Given the description of an element on the screen output the (x, y) to click on. 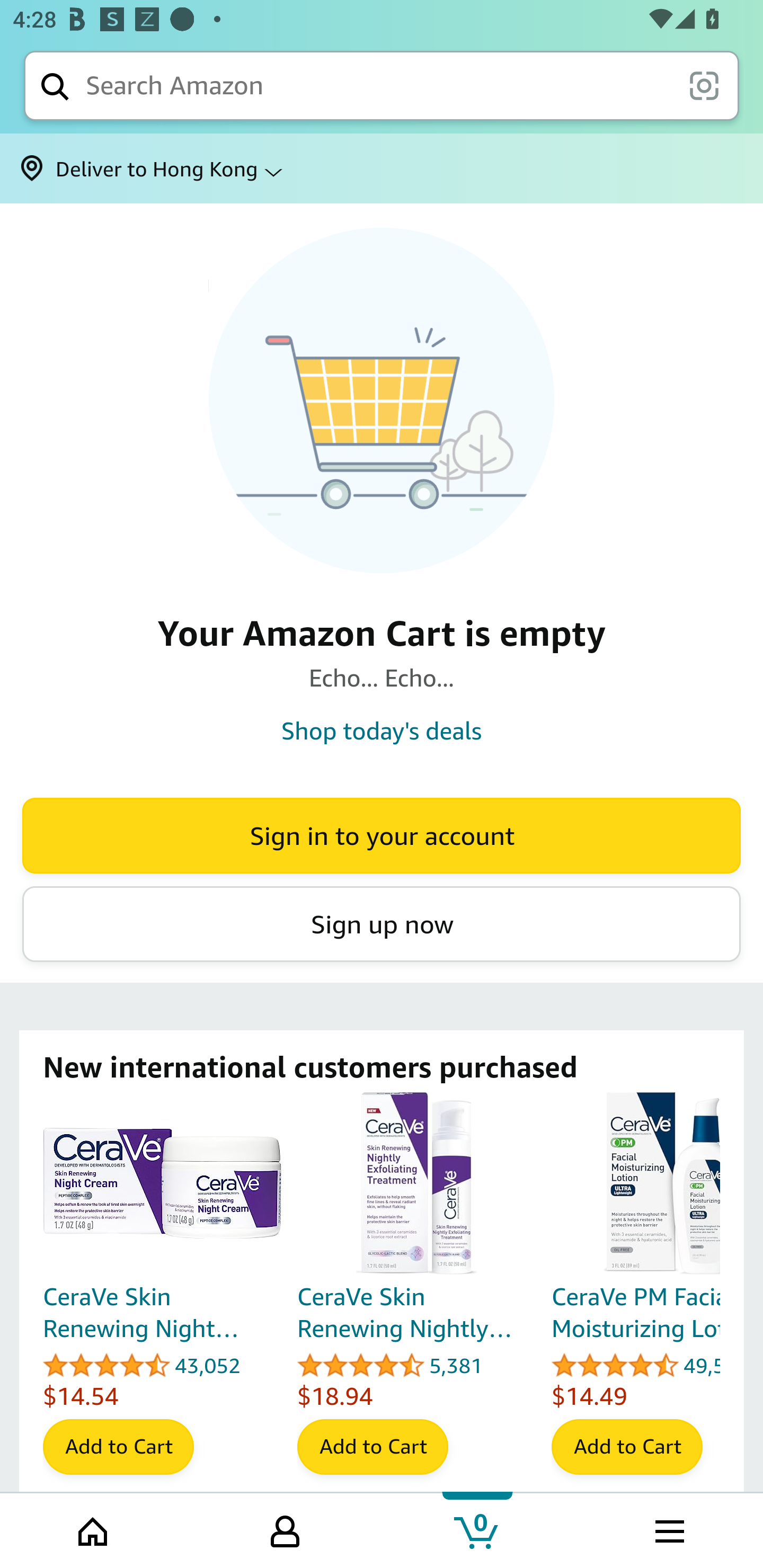
Search Search Search Amazon scan it (381, 85)
scan it (704, 85)
Deliver to Hong Kong ⌵ (381, 168)
Shop today's deals (381, 729)
Sign in to your account (381, 835)
Sign up now (381, 924)
Add to Cart (118, 1447)
Add to Cart (372, 1447)
Add to Cart (627, 1447)
Home Tab 1 of 4 (94, 1529)
Your Amazon.com Tab 2 of 4 (285, 1529)
Cart 0 item Tab 3 of 4 0 (477, 1529)
Browse menu Tab 4 of 4 (668, 1529)
